Given the description of an element on the screen output the (x, y) to click on. 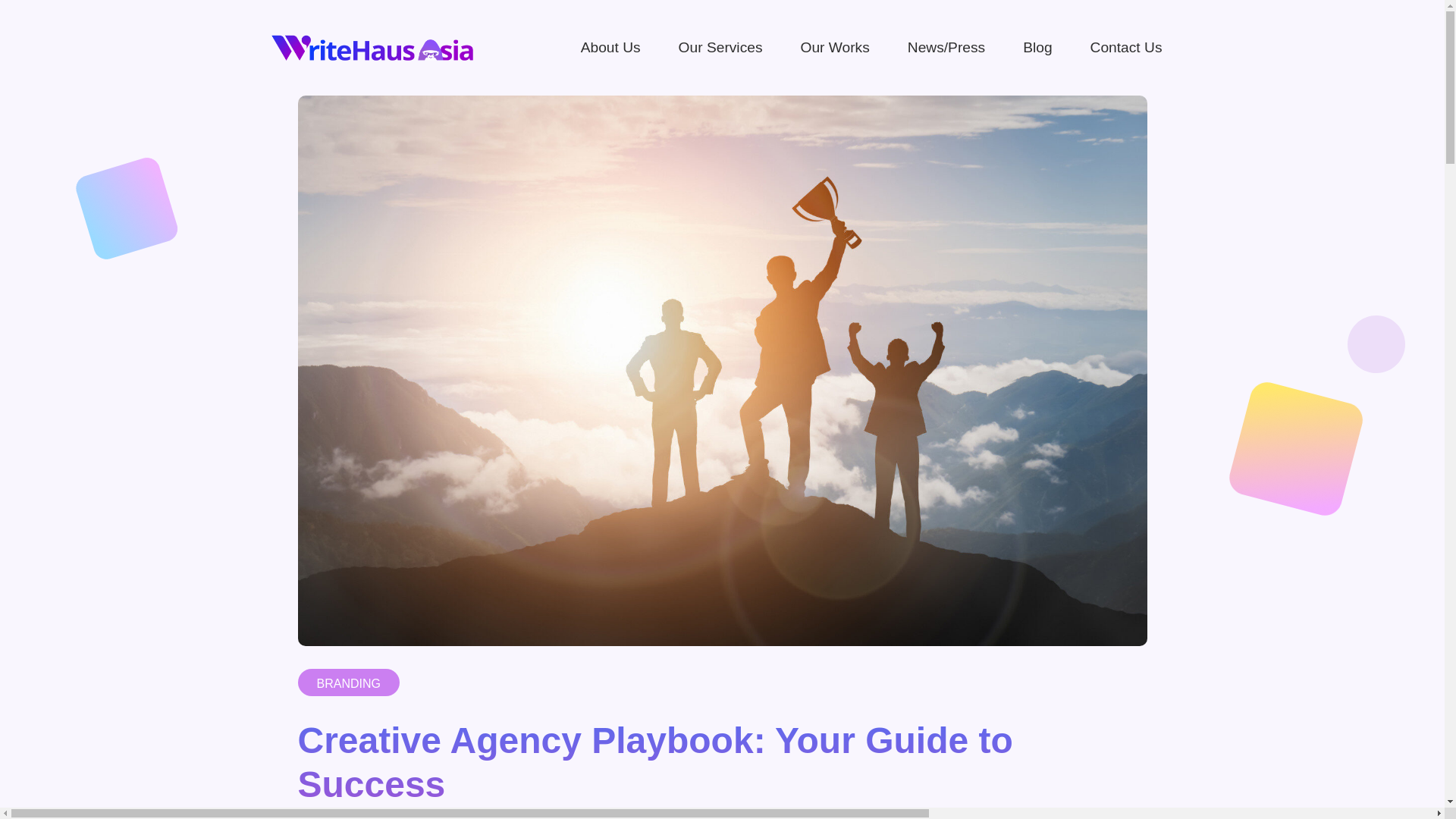
Contact Us (1126, 47)
Our Services (720, 47)
About Us (611, 47)
Blog (1037, 47)
Our Works (833, 47)
